Given the description of an element on the screen output the (x, y) to click on. 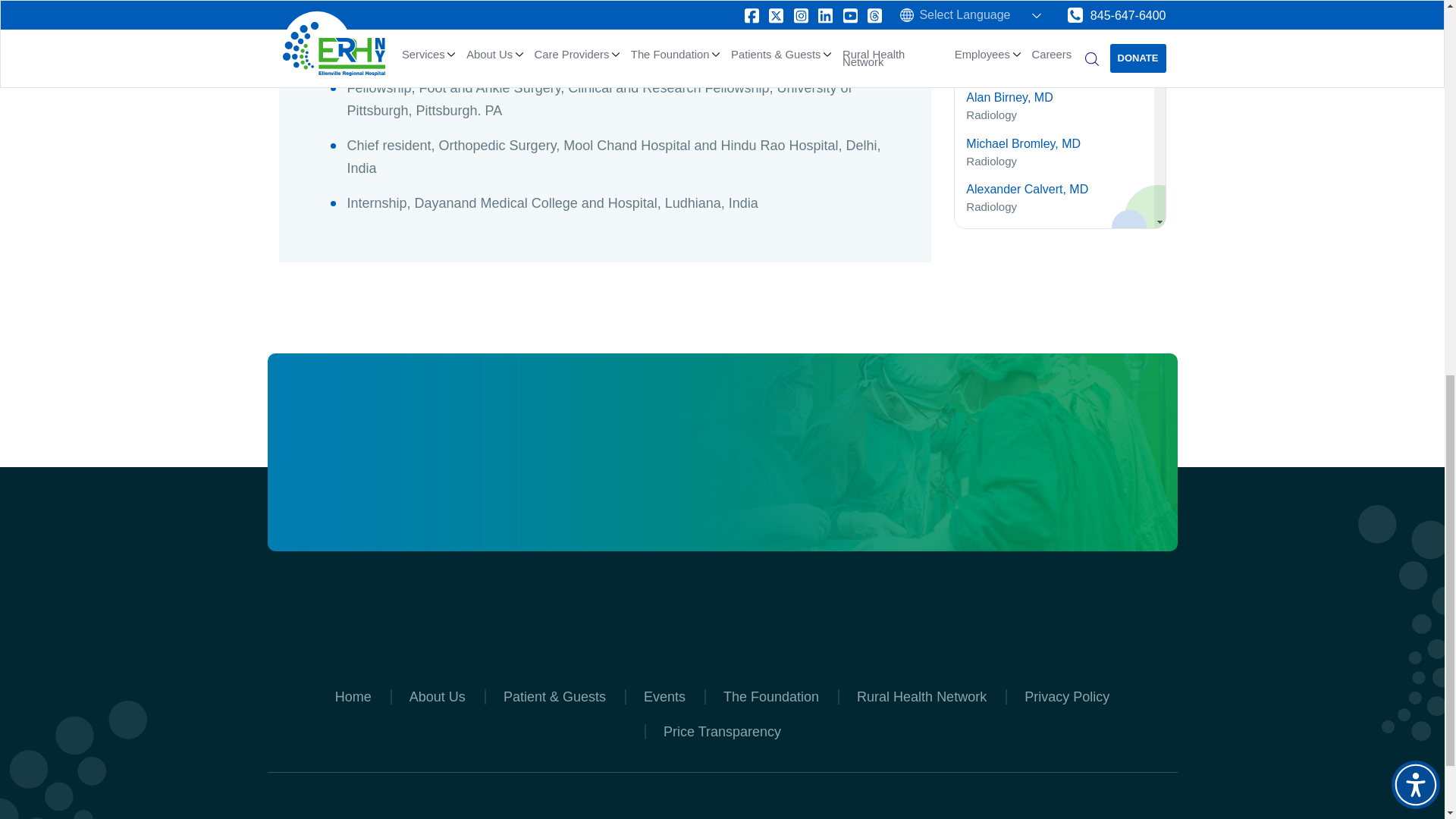
Accessibility Menu (1415, 22)
